Given the description of an element on the screen output the (x, y) to click on. 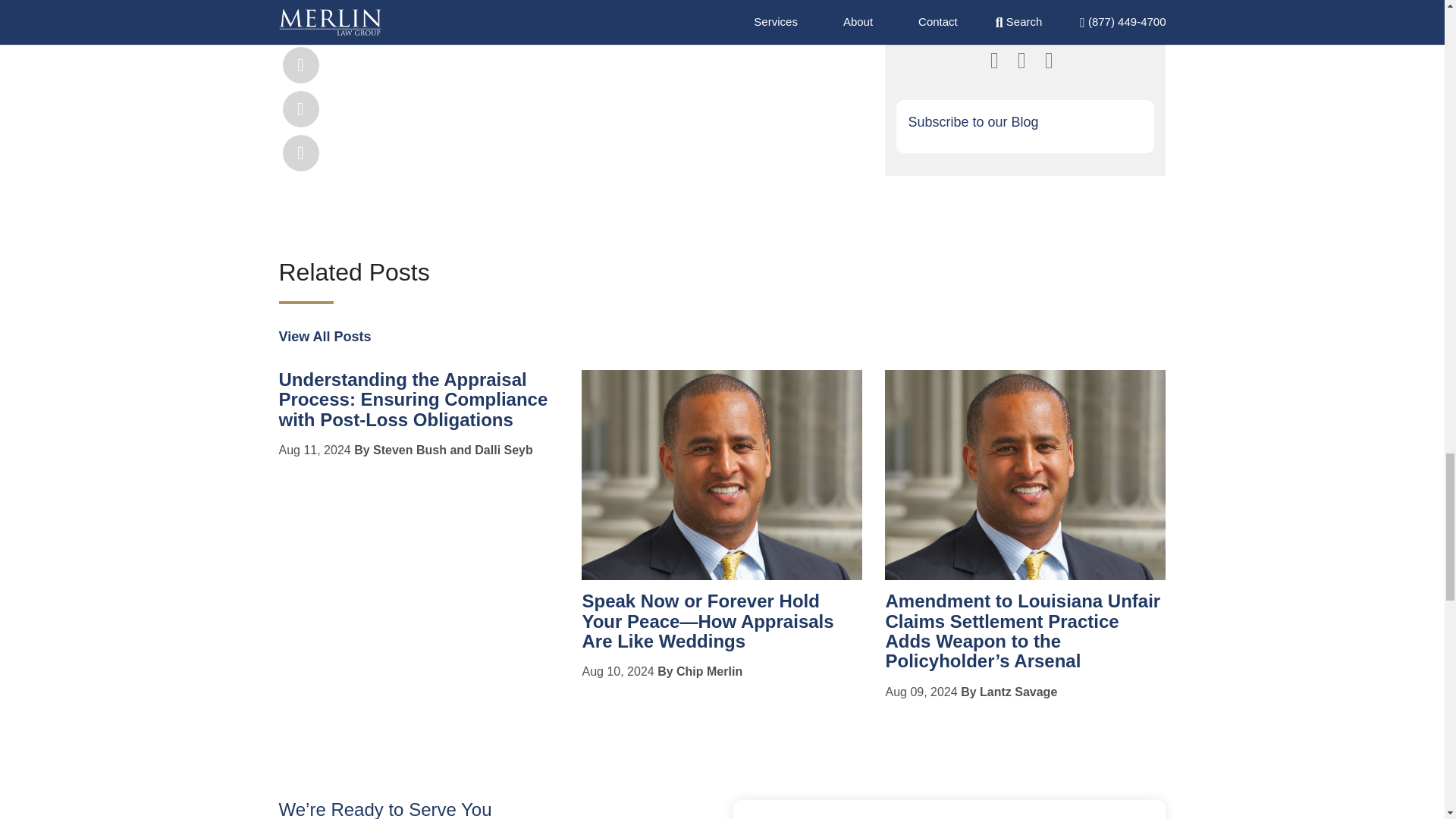
By Lantz Savage (1008, 691)
By Chip Merlin (700, 671)
By Steven Bush and Dalli Seyb (442, 449)
View All Posts (325, 336)
